Given the description of an element on the screen output the (x, y) to click on. 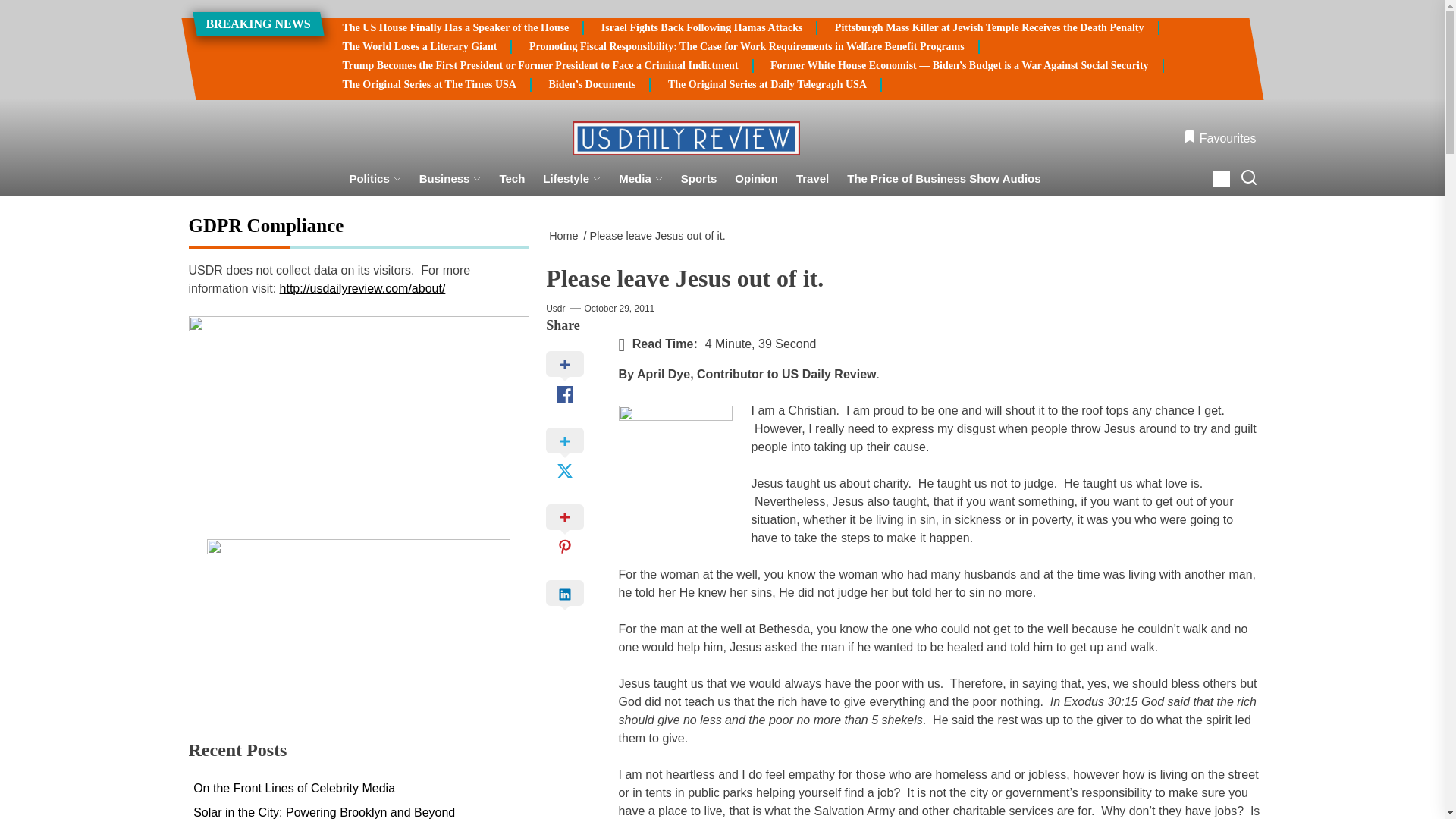
The World Loses a Literary Giant (419, 47)
Lifestyle (572, 178)
Israel Fights Back Following Hamas Attacks (702, 28)
The Original Series at The Times USA (429, 84)
The Original Series at Daily Telegraph USA (766, 84)
The Original Series at Daily Telegraph USA (766, 84)
The US House Finally Has a Speaker of the House (455, 28)
